Given the description of an element on the screen output the (x, y) to click on. 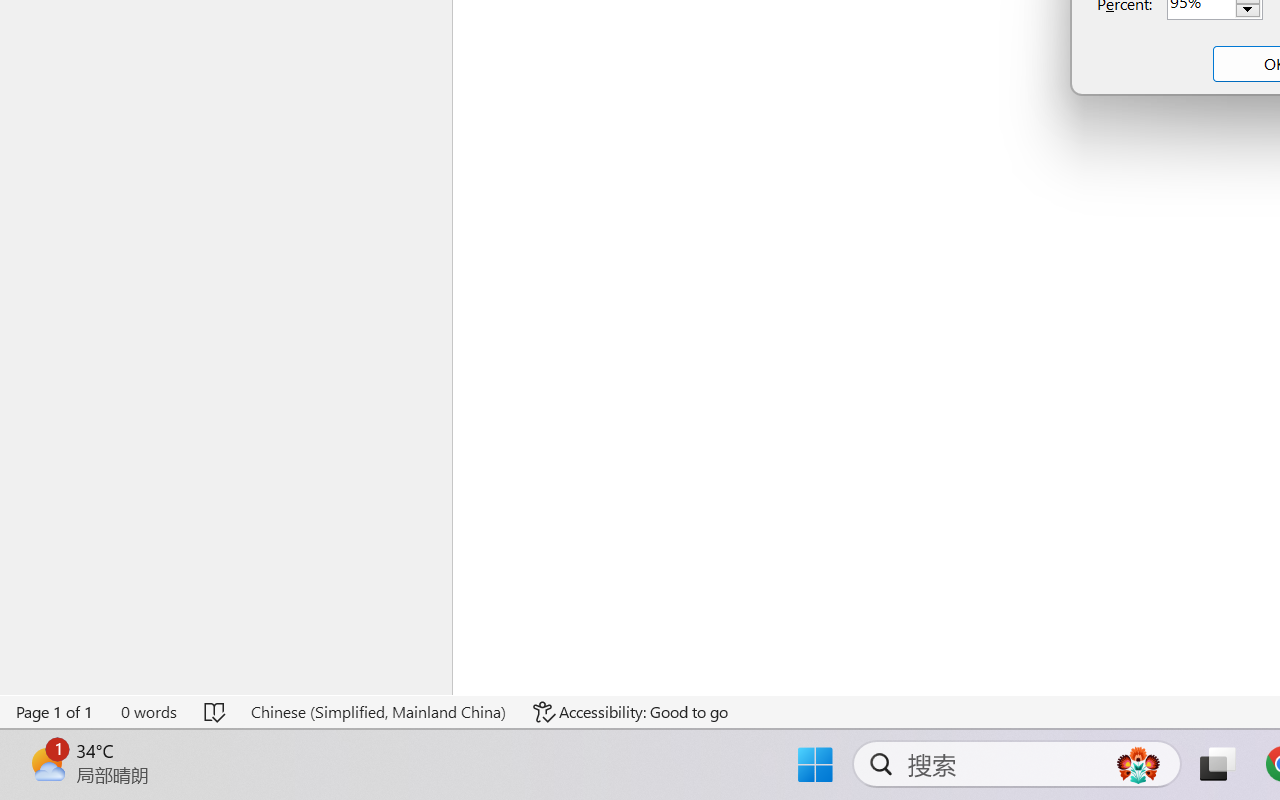
Language Chinese (Simplified, Mainland China) (378, 712)
